Given the description of an element on the screen output the (x, y) to click on. 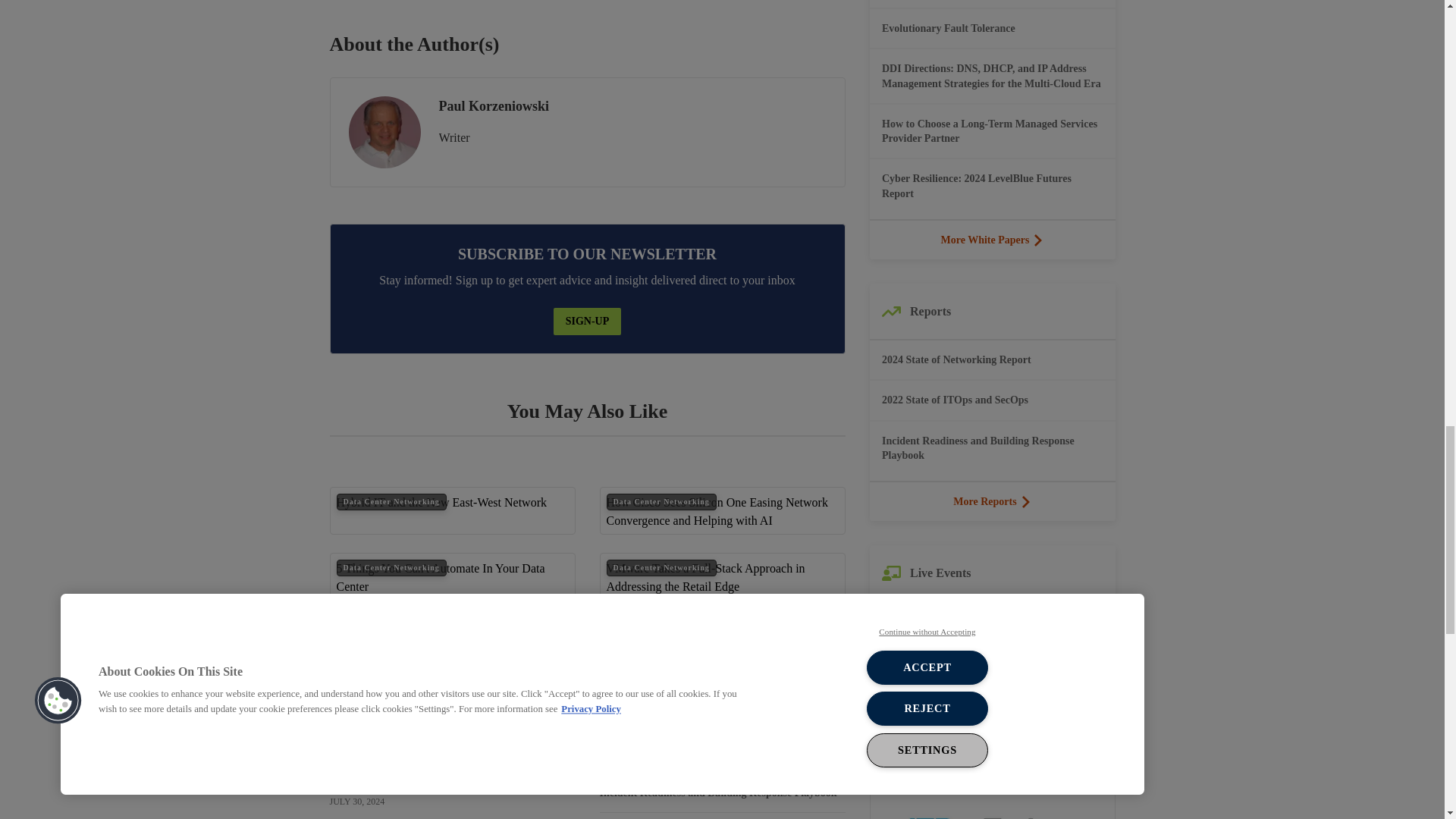
Paul Korzeniowski (384, 132)
